Given the description of an element on the screen output the (x, y) to click on. 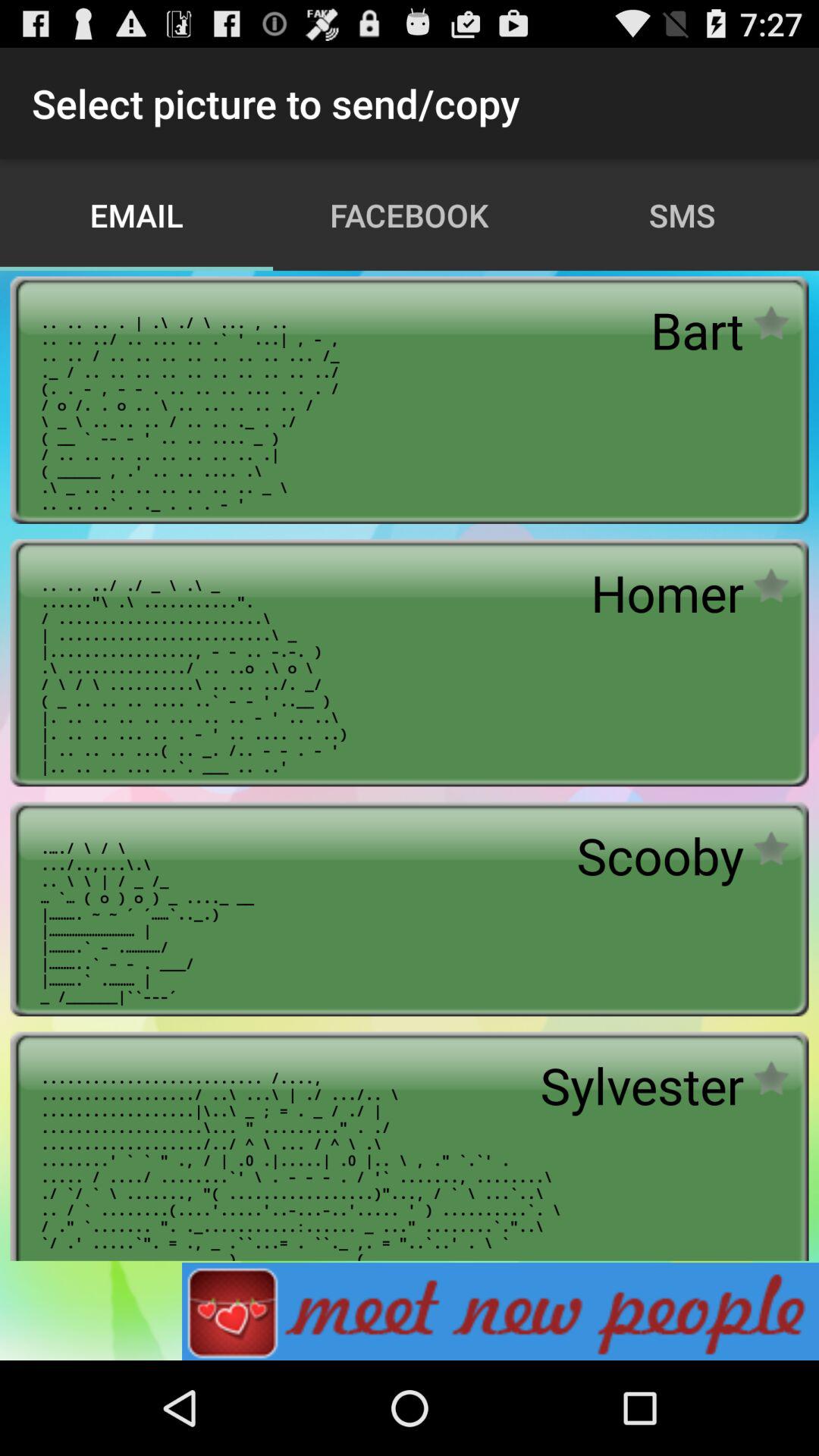
click bart app (696, 330)
